Given the description of an element on the screen output the (x, y) to click on. 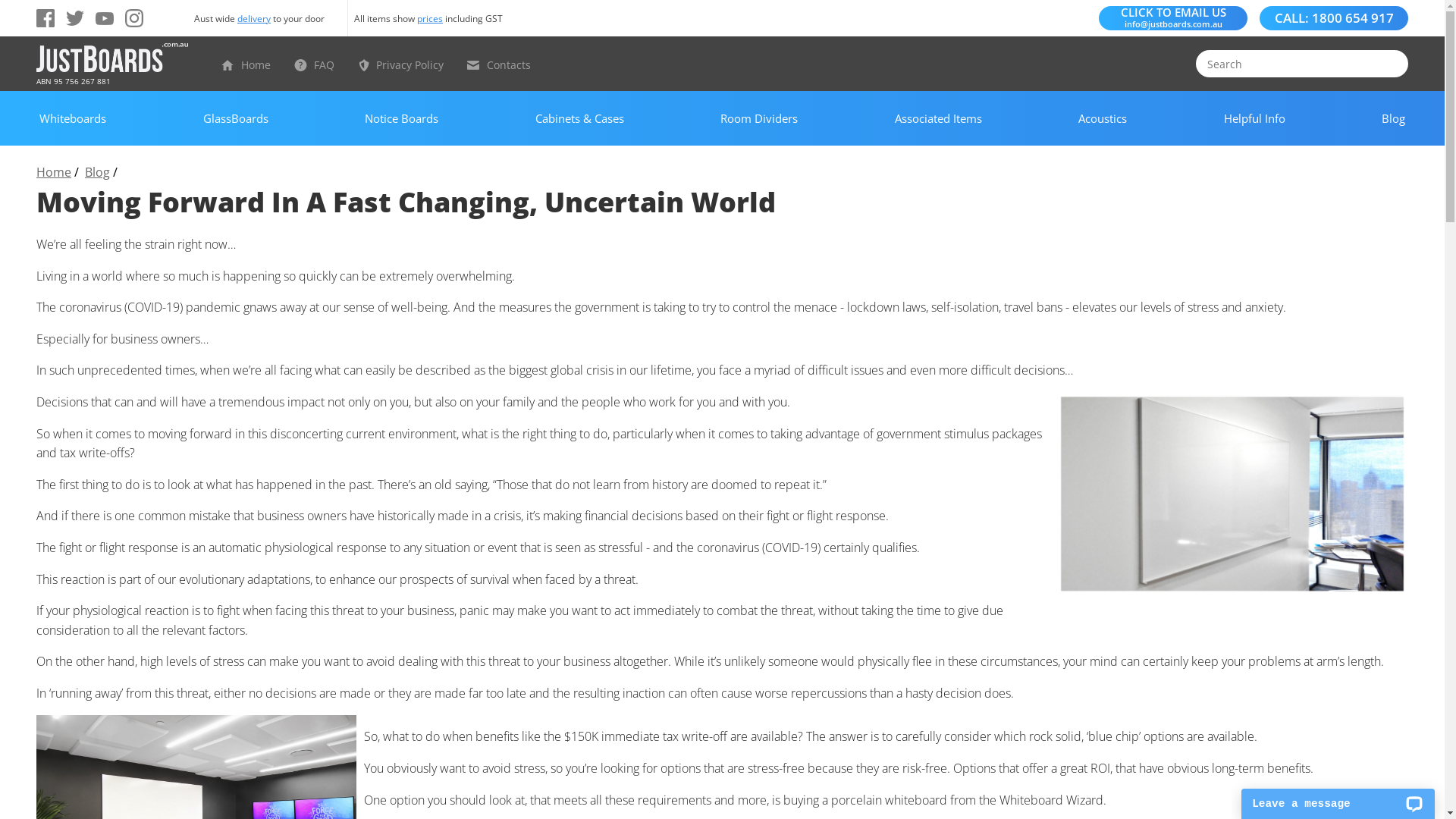
Home Element type: text (53, 171)
Privacy Policy Element type: text (409, 64)
Blog Element type: text (96, 171)
CALL: 1800 654 917 Element type: text (1333, 17)
Home Element type: text (255, 64)
FAQ Element type: text (323, 64)
CLICK TO EMAIL US
info@justboards.com.au Element type: text (1172, 17)
prices Element type: text (429, 18)
Contacts Element type: text (508, 64)
delivery Element type: text (253, 18)
